Given the description of an element on the screen output the (x, y) to click on. 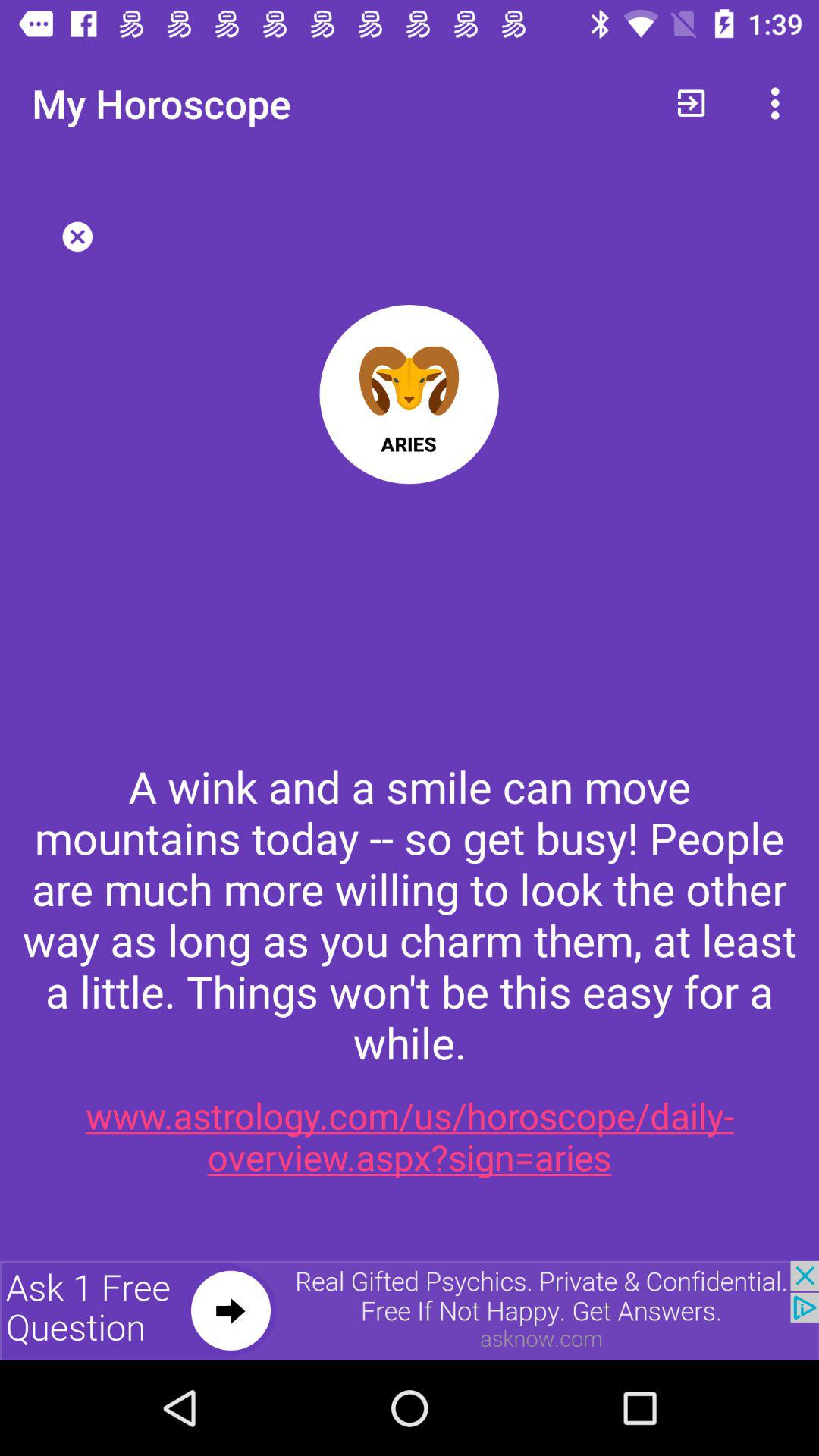
view advertisement (409, 1310)
